Given the description of an element on the screen output the (x, y) to click on. 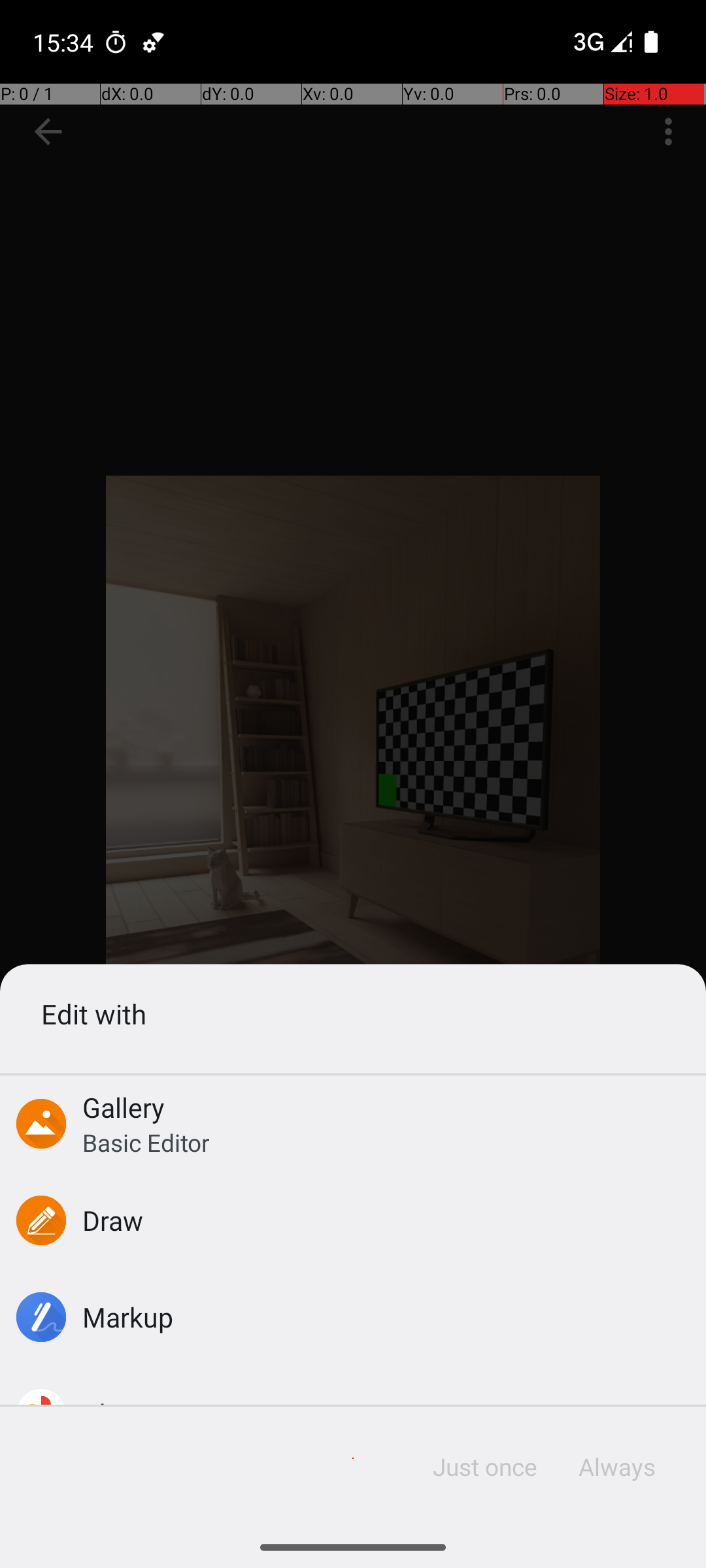
Edit with Element type: android.widget.TextView (352, 1013)
Basic Editor Element type: android.widget.TextView (146, 1142)
Markup Element type: android.widget.TextView (127, 1316)
Android System notification: Wi‑Fi will turn on automatically Element type: android.widget.ImageView (153, 41)
